Given the description of an element on the screen output the (x, y) to click on. 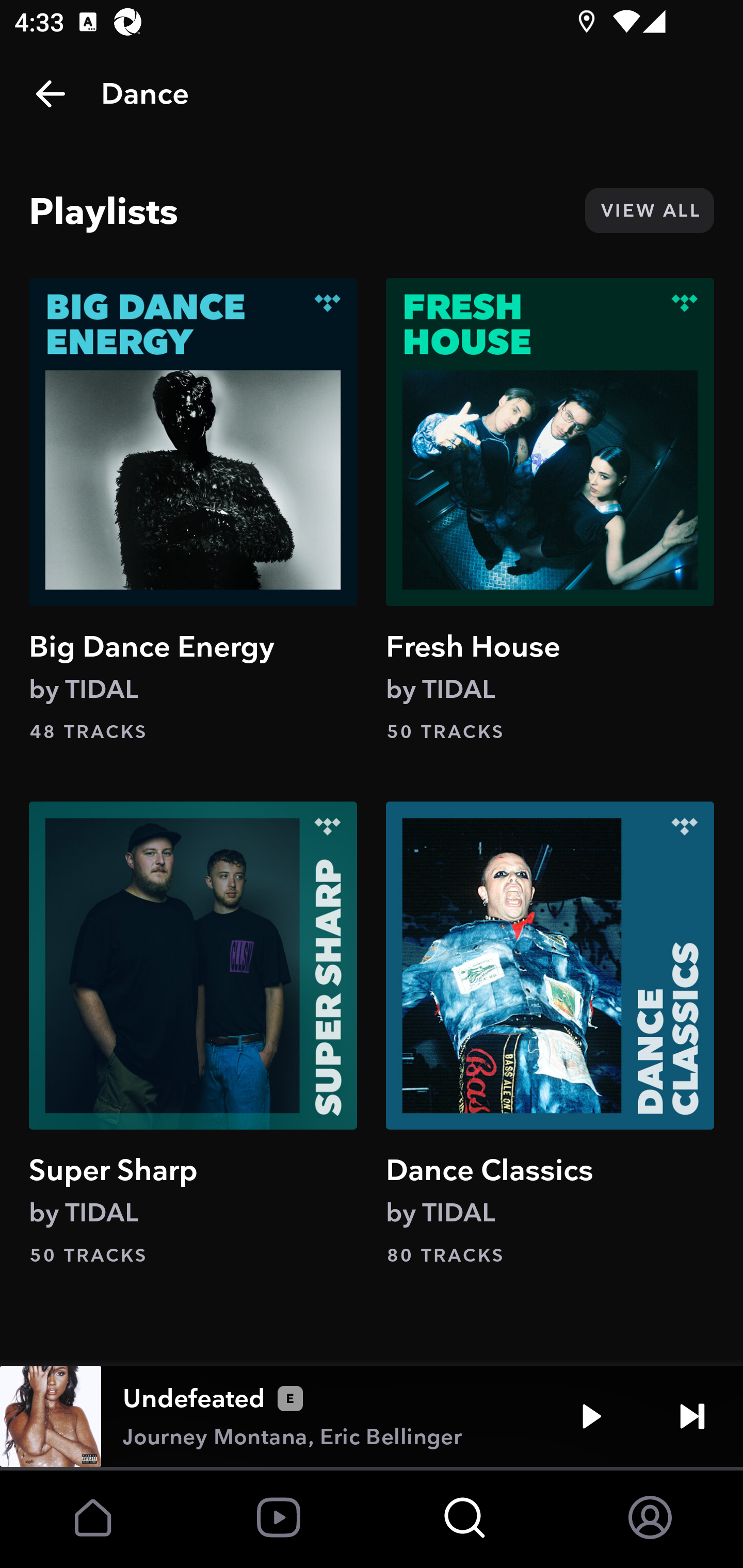
VIEW ALL (649, 210)
Big Dance Energy by TIDAL 48 TRACKS (192, 510)
Fresh House by TIDAL 50 TRACKS (549, 510)
Super Sharp by TIDAL 50 TRACKS (192, 1033)
Dance Classics by TIDAL 80 TRACKS (549, 1033)
Undefeated    Journey Montana, Eric Bellinger Play (371, 1416)
Play (590, 1416)
